Given the description of an element on the screen output the (x, y) to click on. 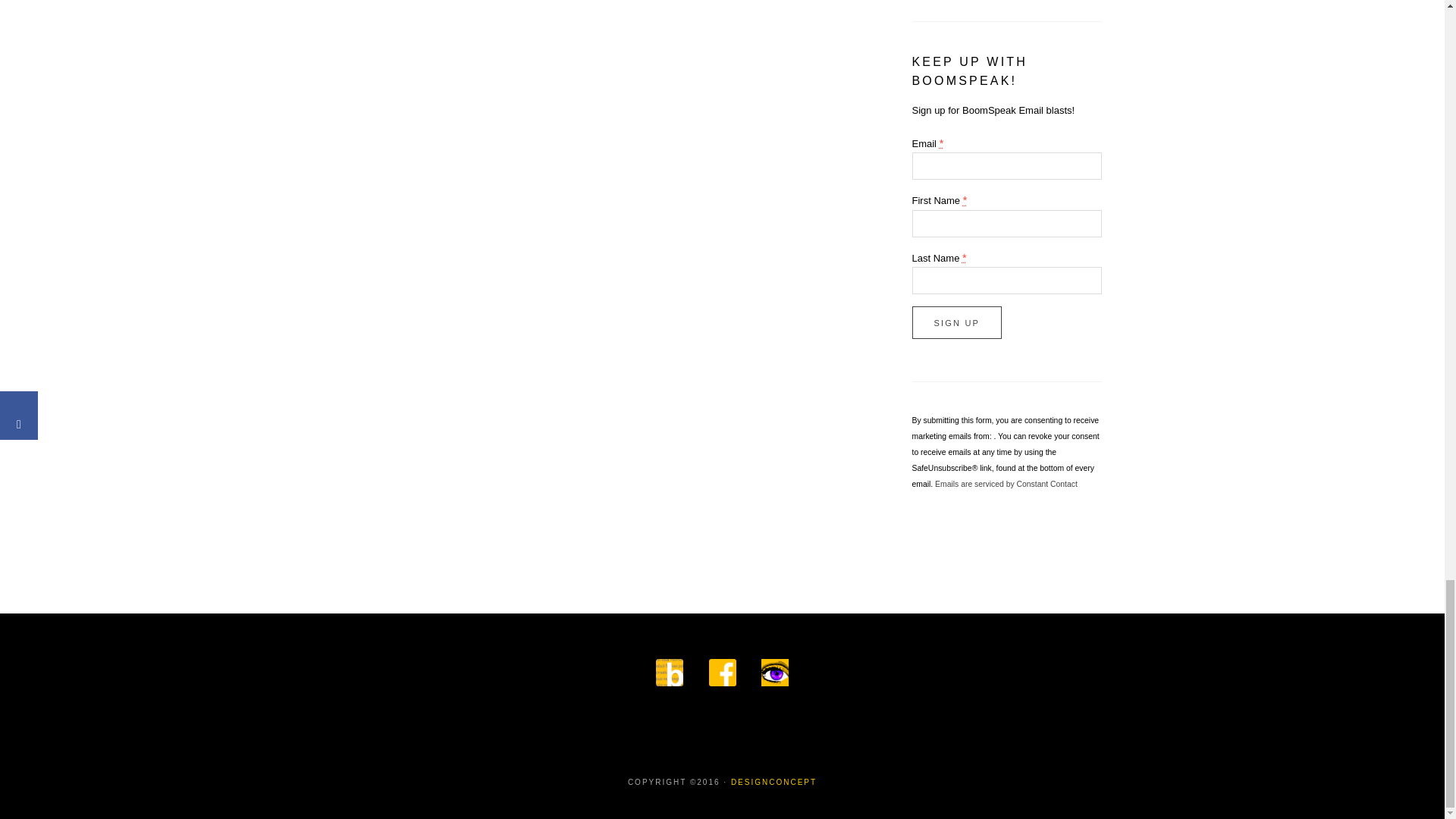
Sign up (956, 322)
